Given the description of an element on the screen output the (x, y) to click on. 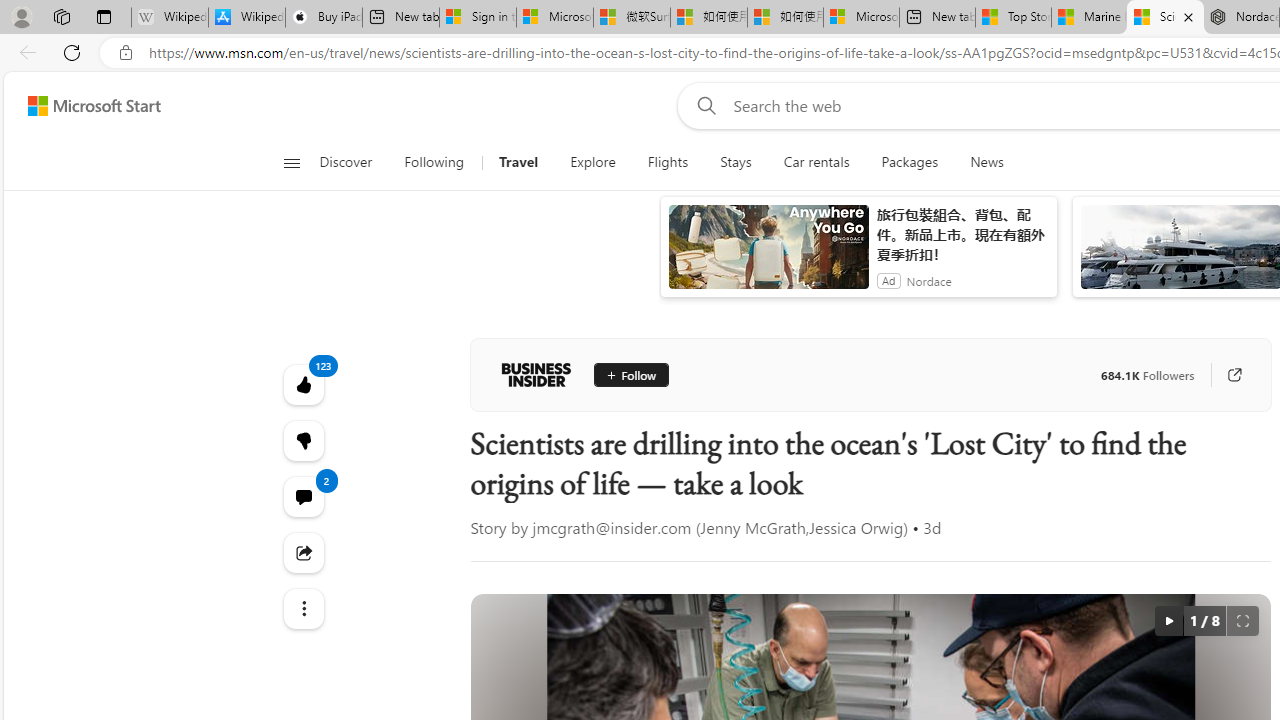
Share this story (302, 552)
Flights (668, 162)
Ad (888, 280)
Go to publisher's site (1234, 374)
123 Like (302, 384)
Explore (592, 162)
Web search (702, 105)
Sign in to your Microsoft account (477, 17)
Stays (736, 162)
News (978, 162)
Discover (345, 162)
Wikipedia - Sleeping (169, 17)
Packages (909, 162)
